Given the description of an element on the screen output the (x, y) to click on. 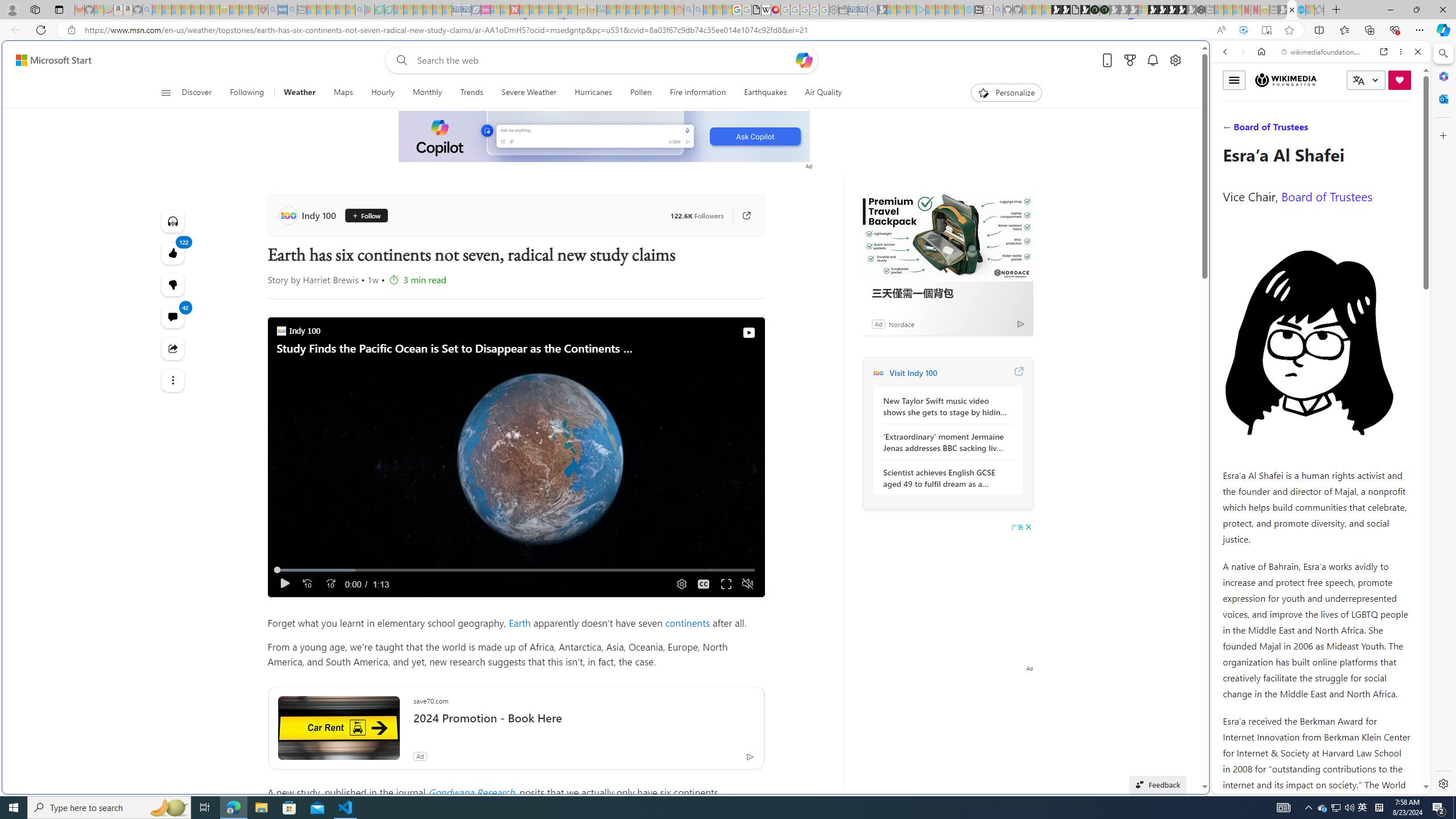
Follow (366, 215)
Wiktionary (1315, 380)
Pets - MSN - Sleeping (340, 9)
Tabs you've opened (885, 151)
